Given the description of an element on the screen output the (x, y) to click on. 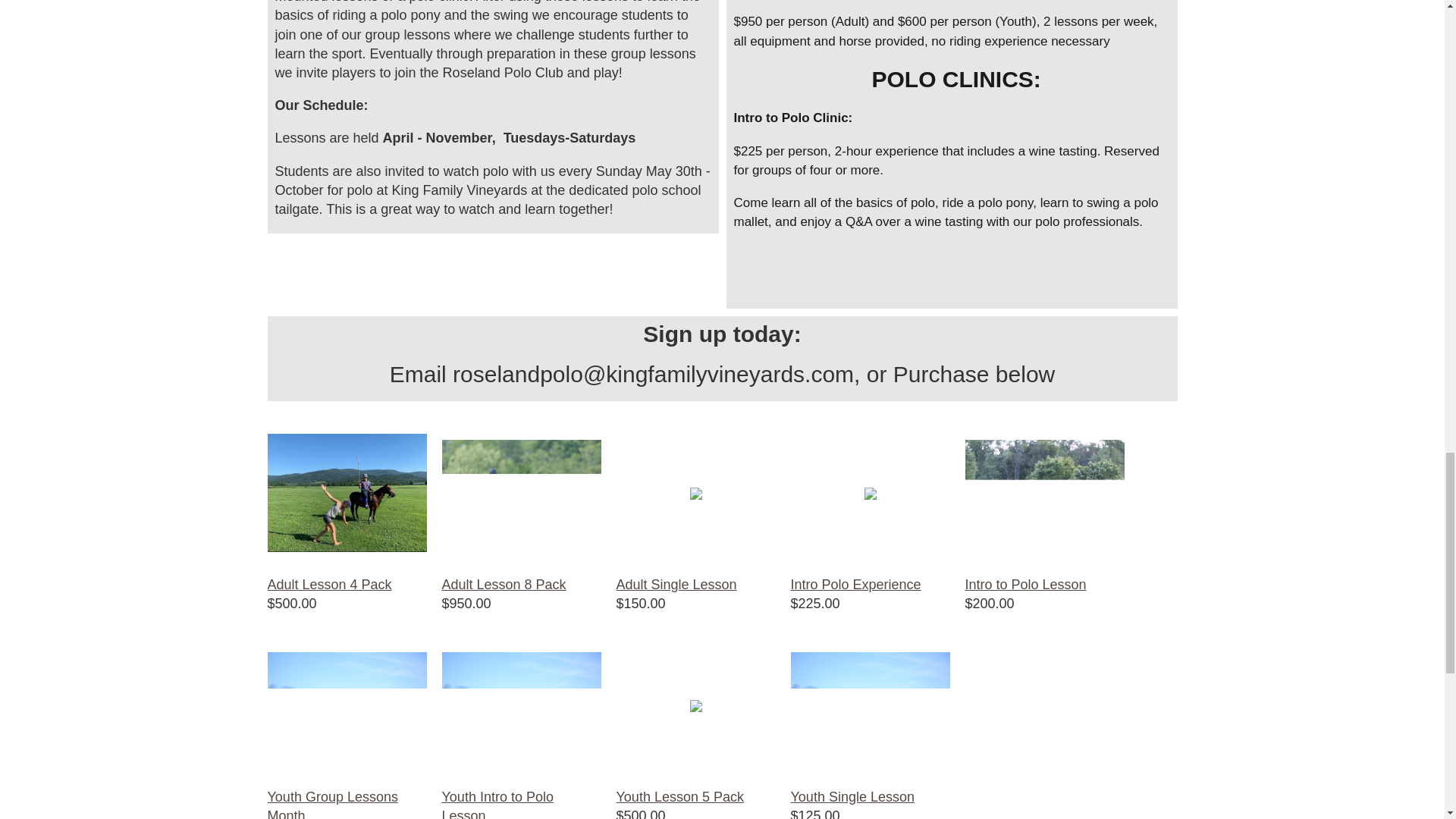
Adult Lesson 8 Pack (503, 584)
Adult Single Lesson (675, 584)
Adult Lesson 4 Pack (328, 584)
Intro Polo Experience (855, 584)
Intro to Polo Lesson (1024, 584)
Youth Group Lessons Month (331, 804)
